Given the description of an element on the screen output the (x, y) to click on. 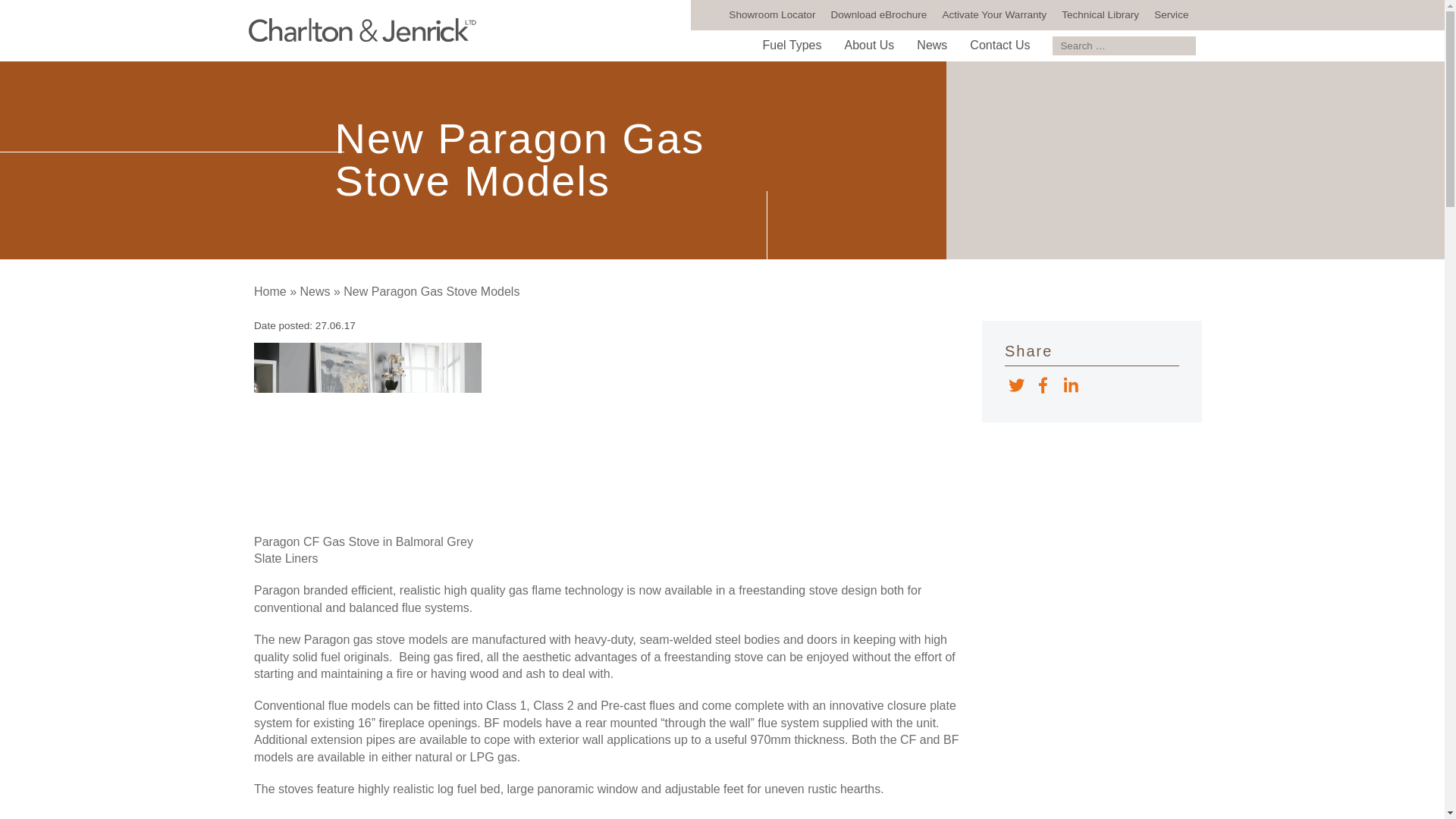
Home (269, 291)
Download eBrochure (878, 14)
Showroom Locator (771, 14)
News (931, 45)
Paragon CF Gas Stove in Balmoral Grey Slate Liners (367, 437)
Activate Your Warranty (994, 14)
Service (1171, 14)
Fuel Types (791, 45)
Technical Library (1100, 14)
Search (1184, 45)
News (314, 291)
About Us (868, 45)
Contact Us (999, 45)
